Given the description of an element on the screen output the (x, y) to click on. 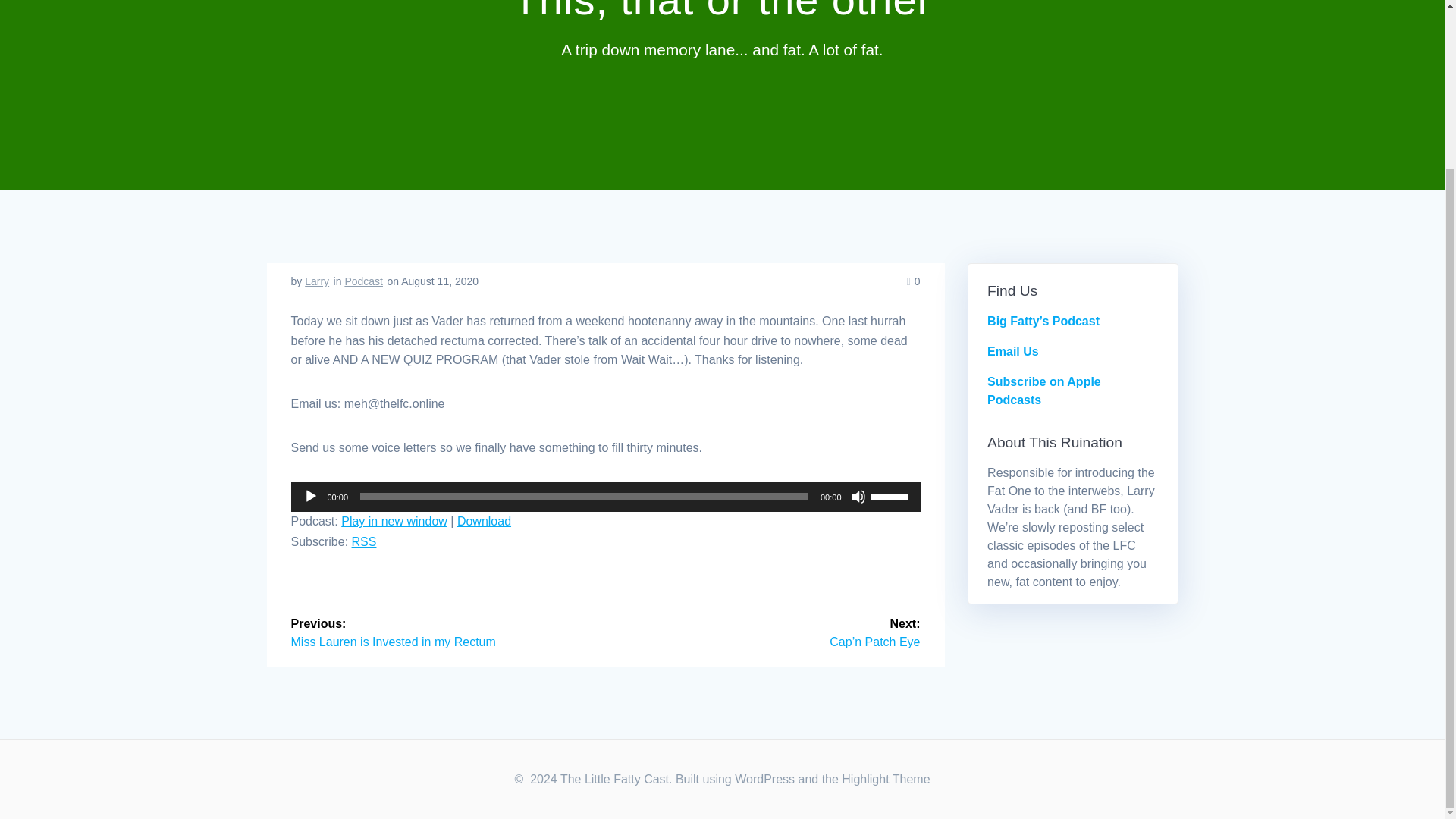
Mute (858, 496)
Download (484, 521)
Play (310, 496)
Podcast (362, 281)
Download (484, 521)
Subscribe via RSS (364, 541)
RSS (364, 541)
Play in new window (393, 521)
Email Us (1013, 350)
Subscribe on Apple Podcasts (1043, 390)
Play in new window (393, 521)
Highlight Theme (885, 779)
Posts by Larry (316, 281)
Larry (316, 281)
